Given the description of an element on the screen output the (x, y) to click on. 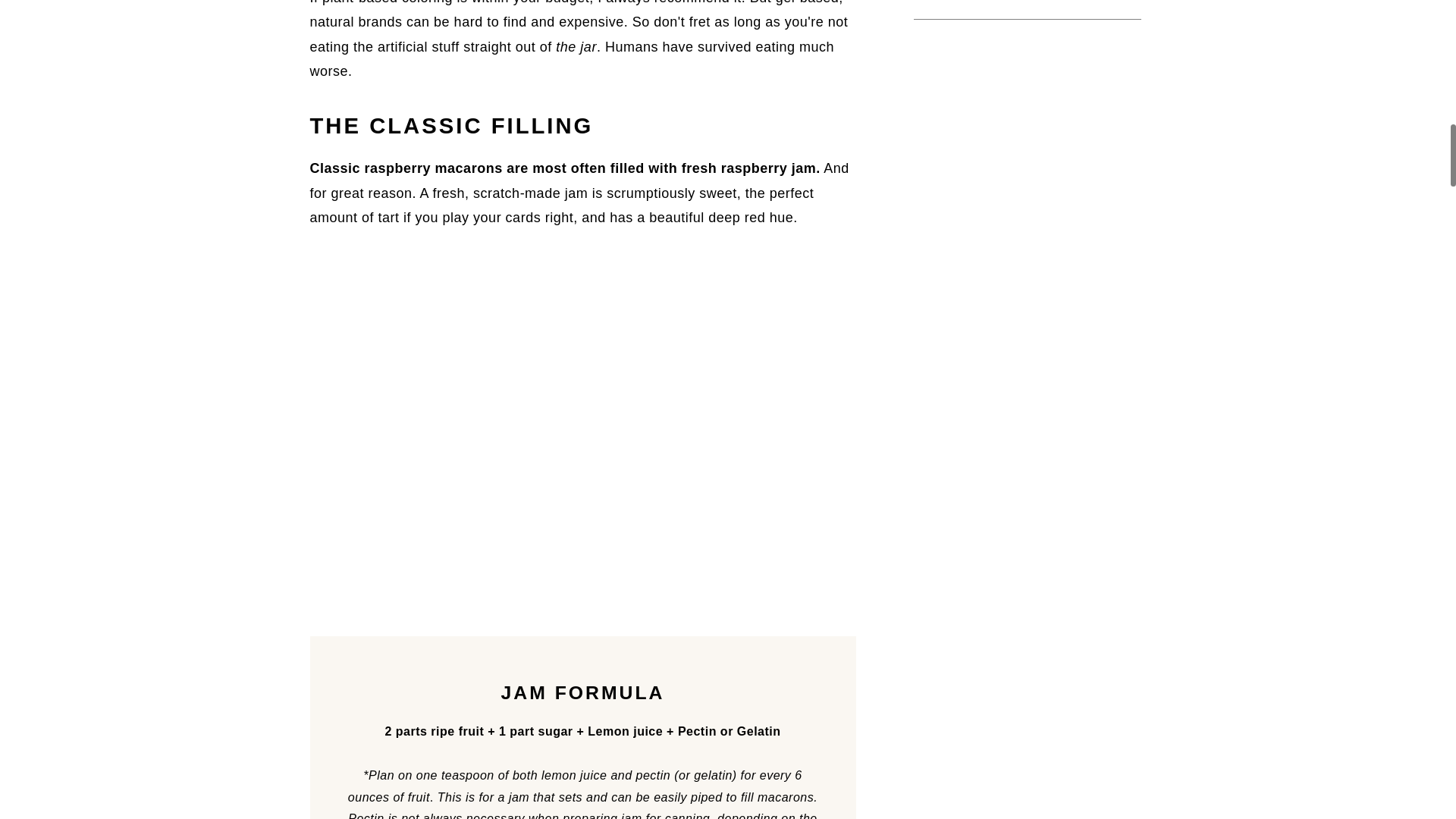
my foodgawker gallery (1026, 157)
